Given the description of an element on the screen output the (x, y) to click on. 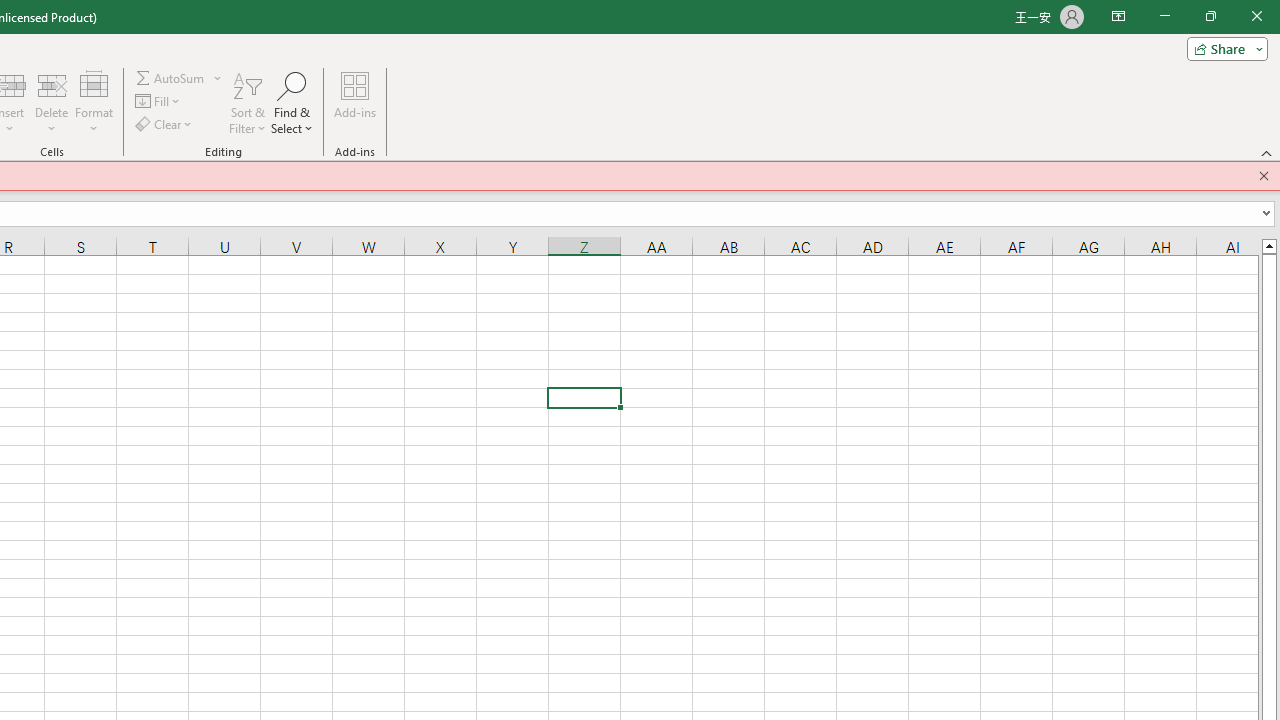
Delete (51, 102)
Delete Cells... (51, 84)
